Given the description of an element on the screen output the (x, y) to click on. 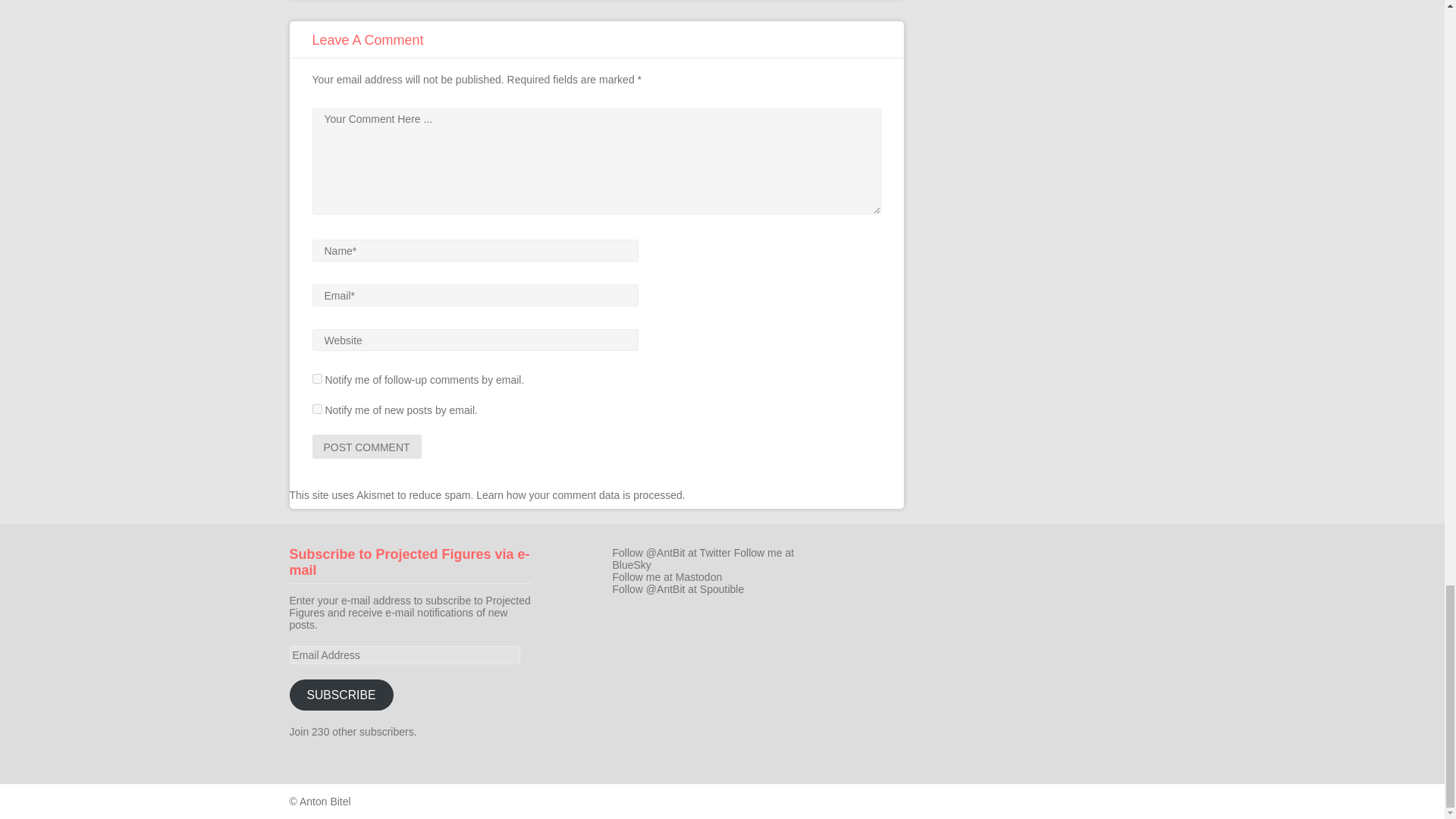
subscribe (317, 378)
subscribe (317, 409)
Post Comment (367, 446)
